Given the description of an element on the screen output the (x, y) to click on. 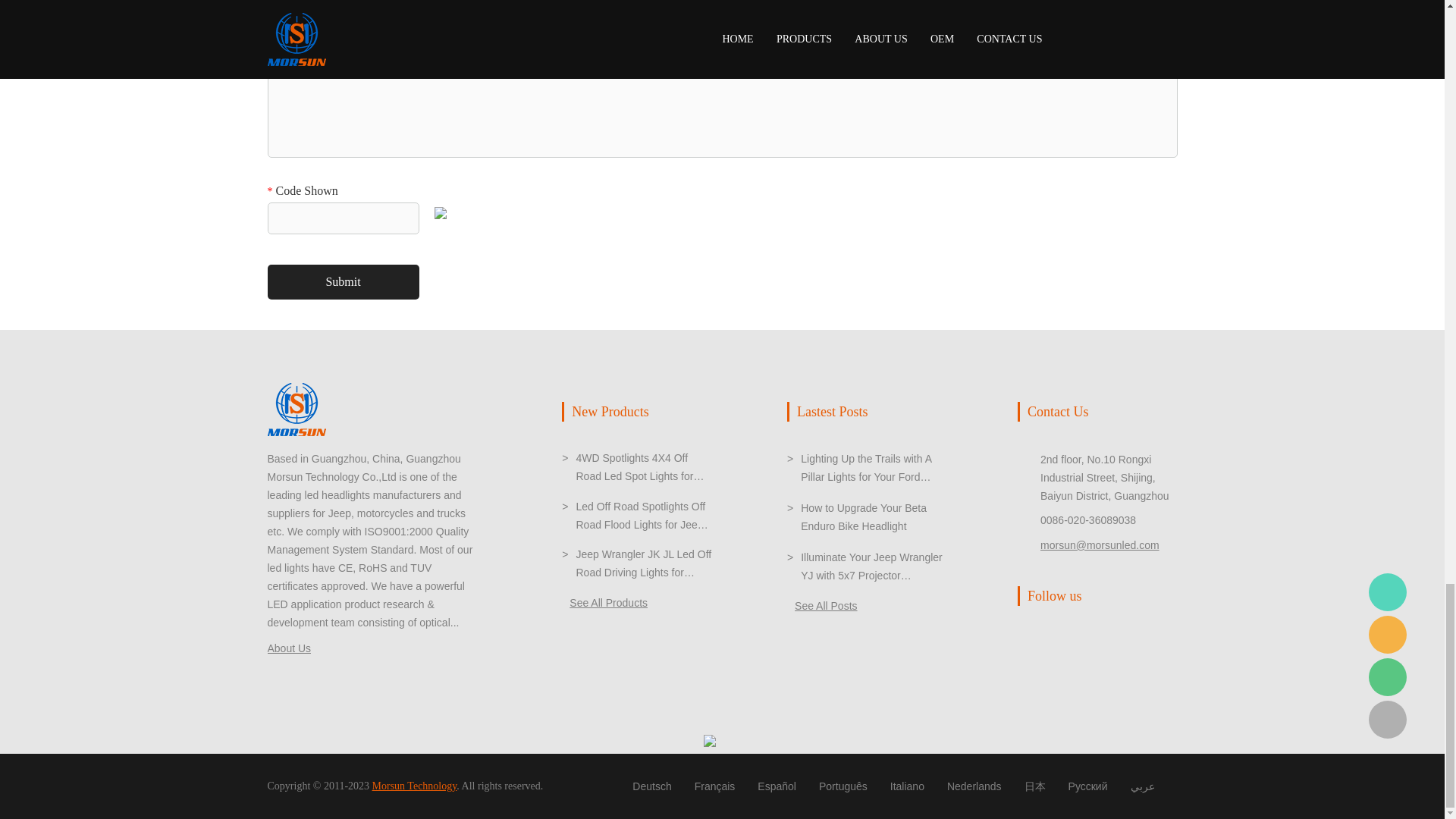
Submit (342, 281)
